Given the description of an element on the screen output the (x, y) to click on. 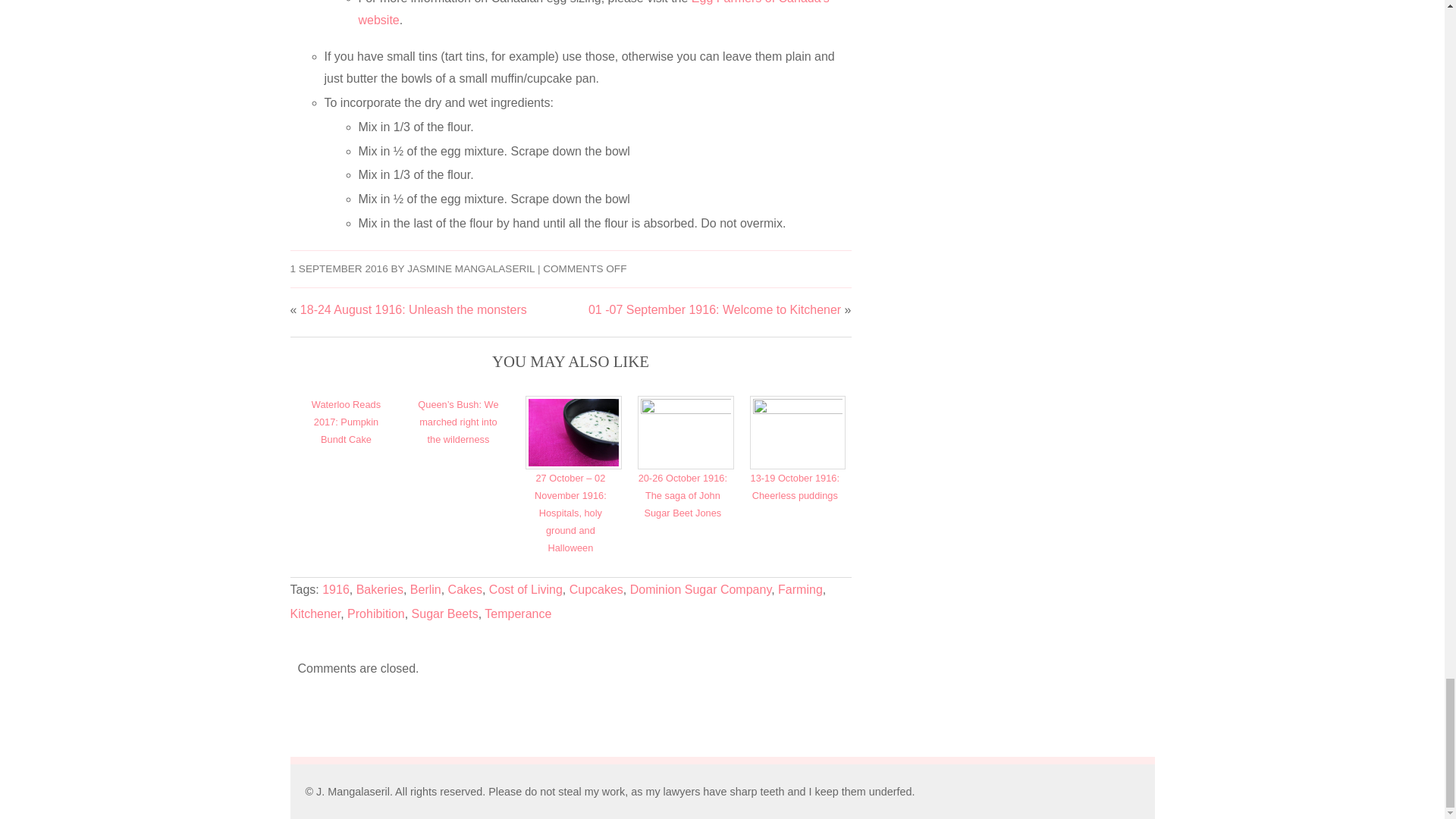
01 -07 September 1916: Welcome to Kitchener (714, 309)
18-24 August 1916: Unleash the monsters (413, 309)
Waterloo Reads 2017: Pumpkin Bundt Cake (345, 421)
